Given the description of an element on the screen output the (x, y) to click on. 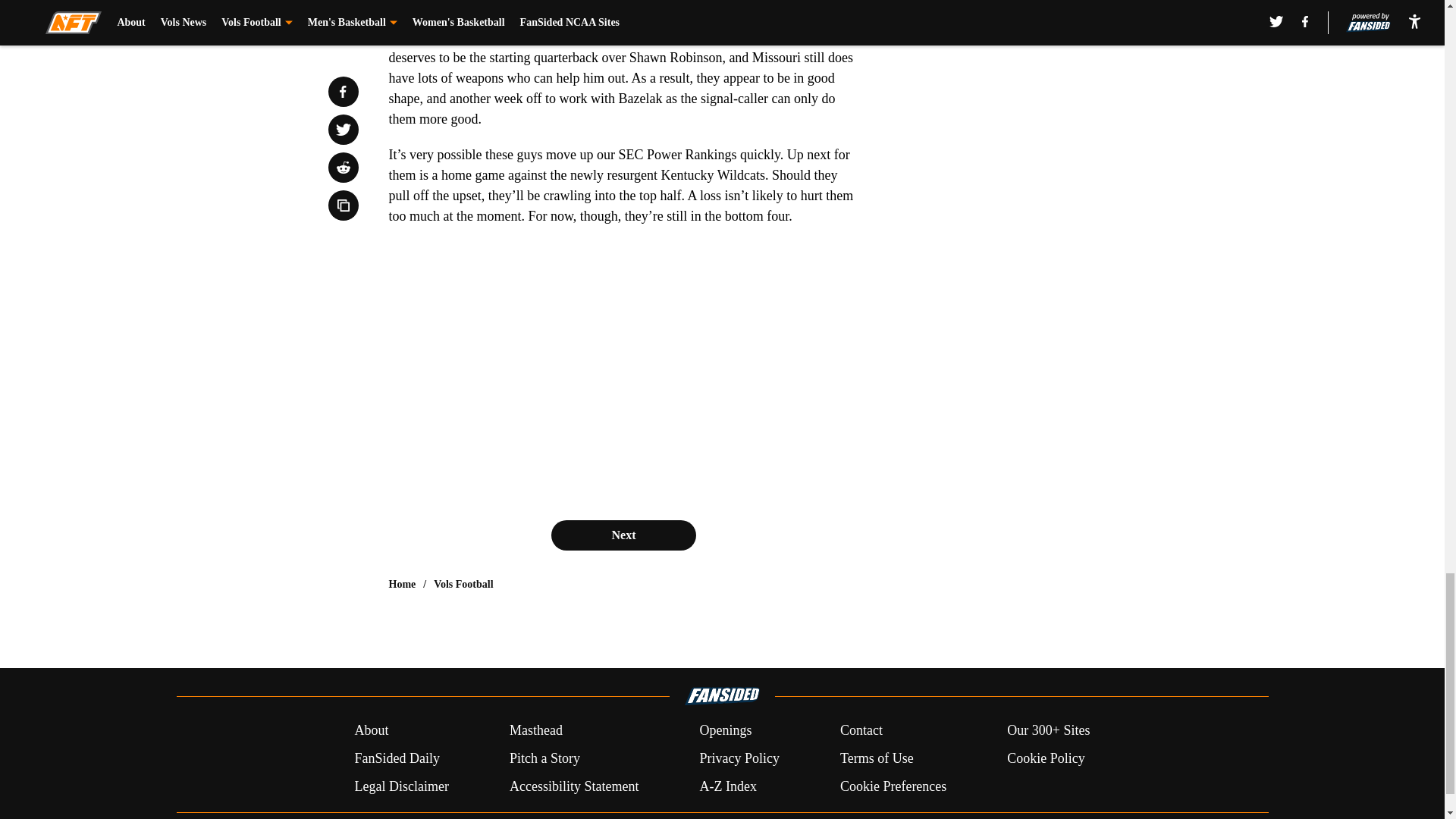
Pitch a Story (544, 758)
Masthead (535, 730)
Next (622, 535)
Privacy Policy (738, 758)
Home (401, 584)
FanSided Daily (396, 758)
Contact (861, 730)
Openings (724, 730)
About (370, 730)
Vols Football (463, 584)
